Given the description of an element on the screen output the (x, y) to click on. 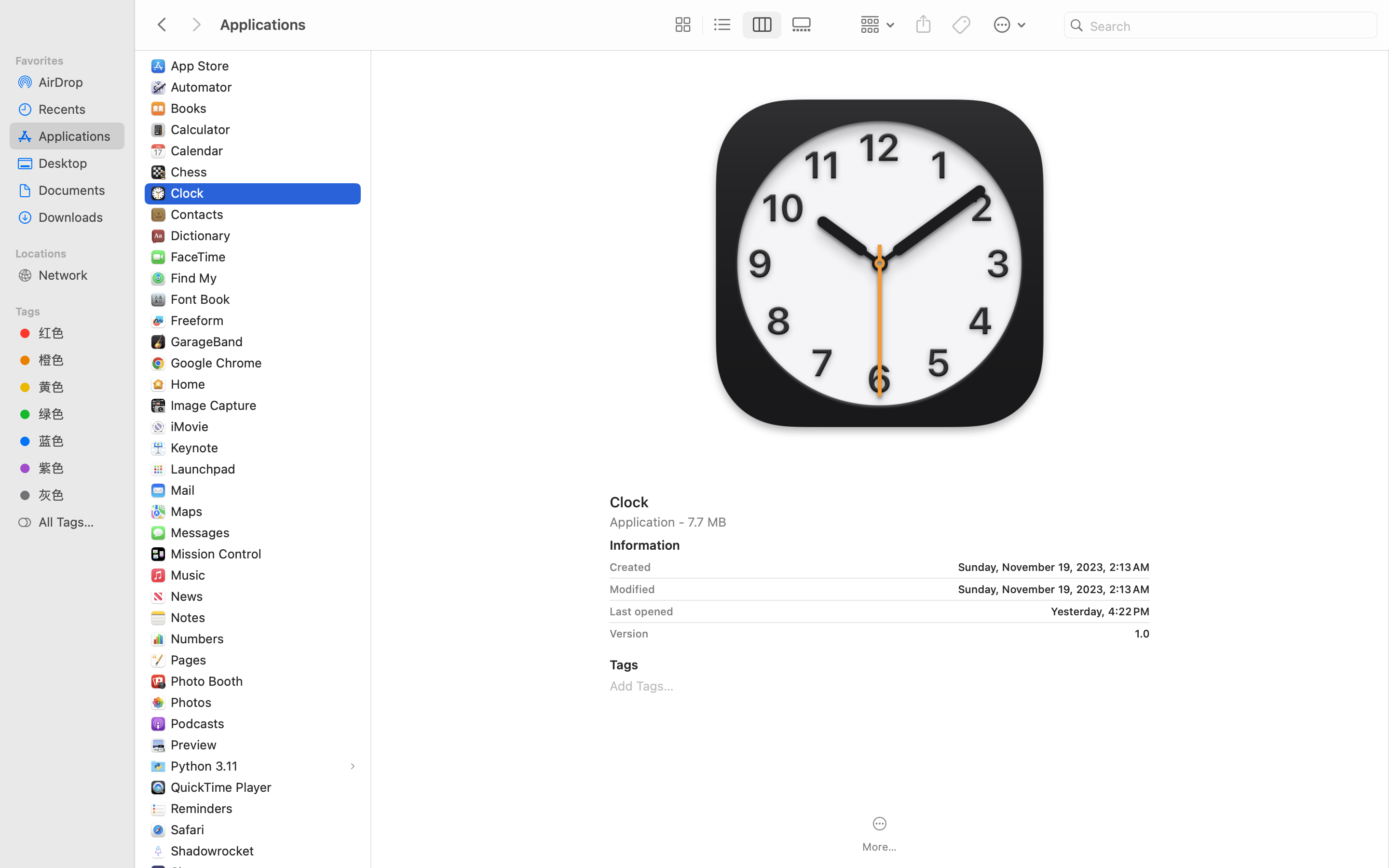
Books Element type: AXTextField (190, 107)
Application - 7.7 MB Element type: AXStaticText (879, 521)
Recents Element type: AXStaticText (77, 108)
